Given the description of an element on the screen output the (x, y) to click on. 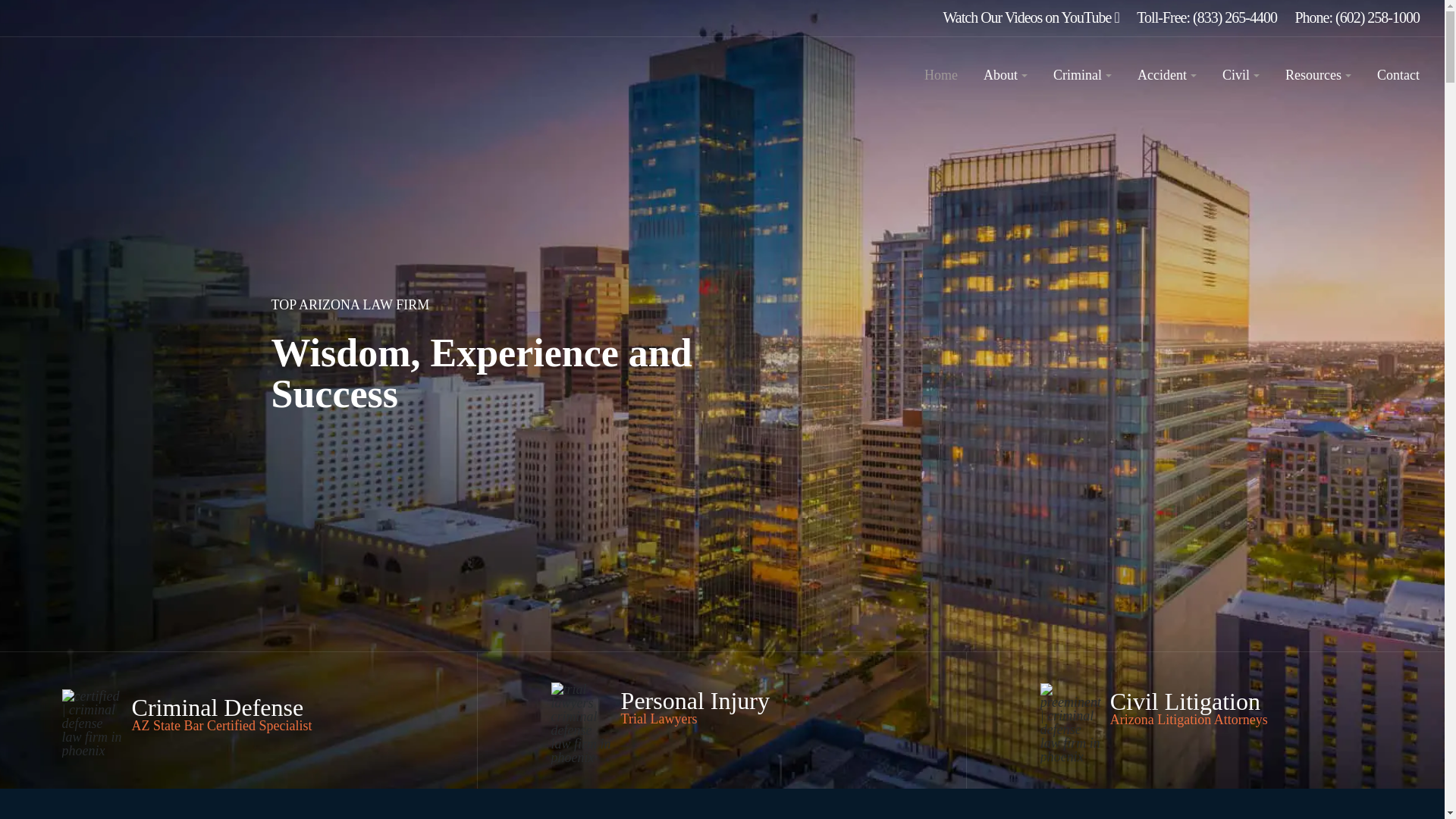
Blog Masonry With Right Sidebar (1317, 74)
Resources (1317, 74)
Accident and Injury (1166, 74)
Accident (1166, 74)
Watch Our Videos on YouTube (1031, 17)
Criminal (1082, 74)
Criminal Defense (1082, 74)
